Given the description of an element on the screen output the (x, y) to click on. 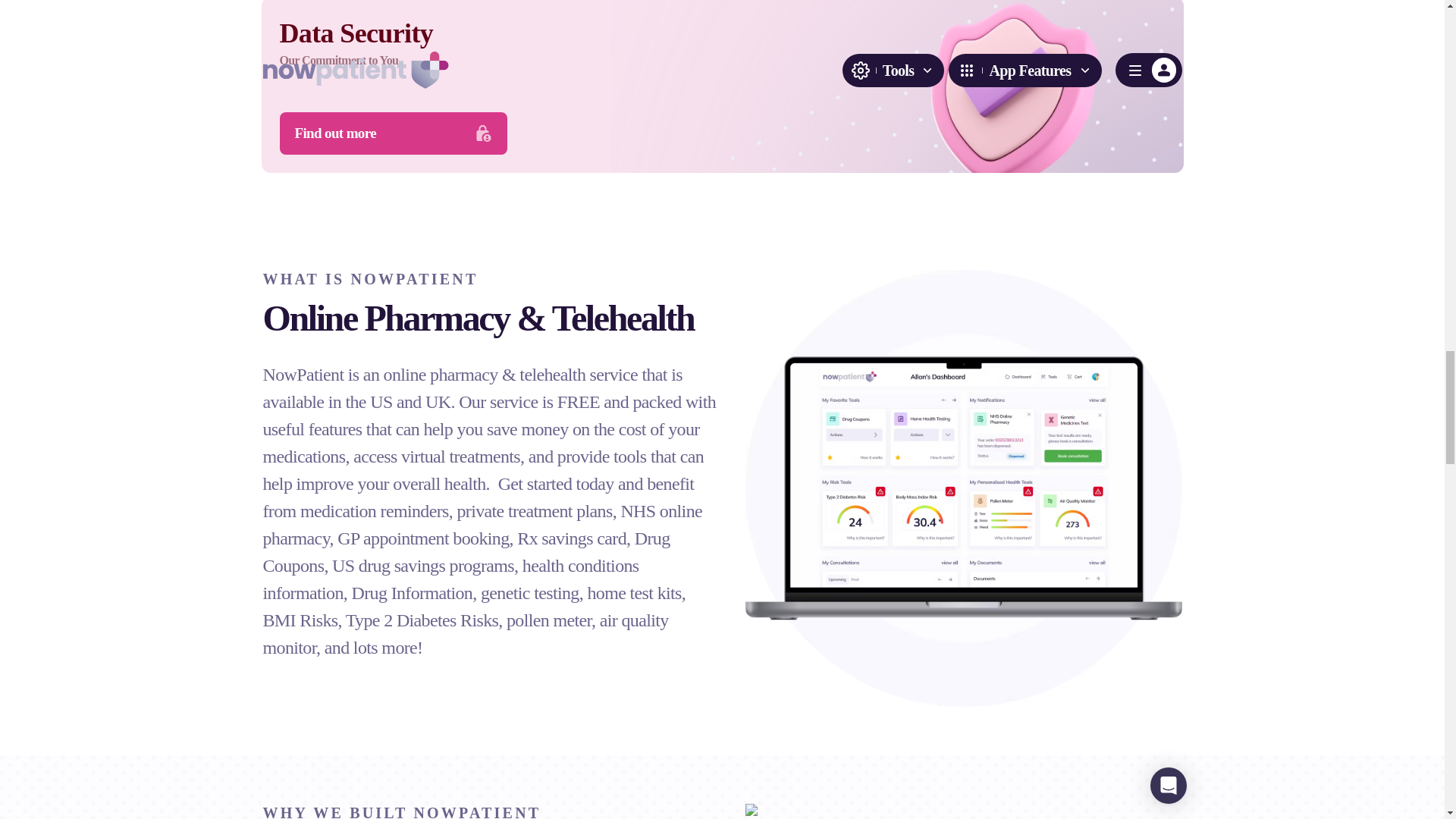
BMI Risks (299, 619)
NowPatient (302, 374)
Drug Coupons (465, 551)
medication reminders (373, 510)
Find out more (392, 133)
air quality monitor (465, 633)
Type 2 Diabetes Risks (422, 619)
GP appointment booking, (425, 537)
health conditions information (450, 579)
Drug Information (412, 592)
